Given the description of an element on the screen output the (x, y) to click on. 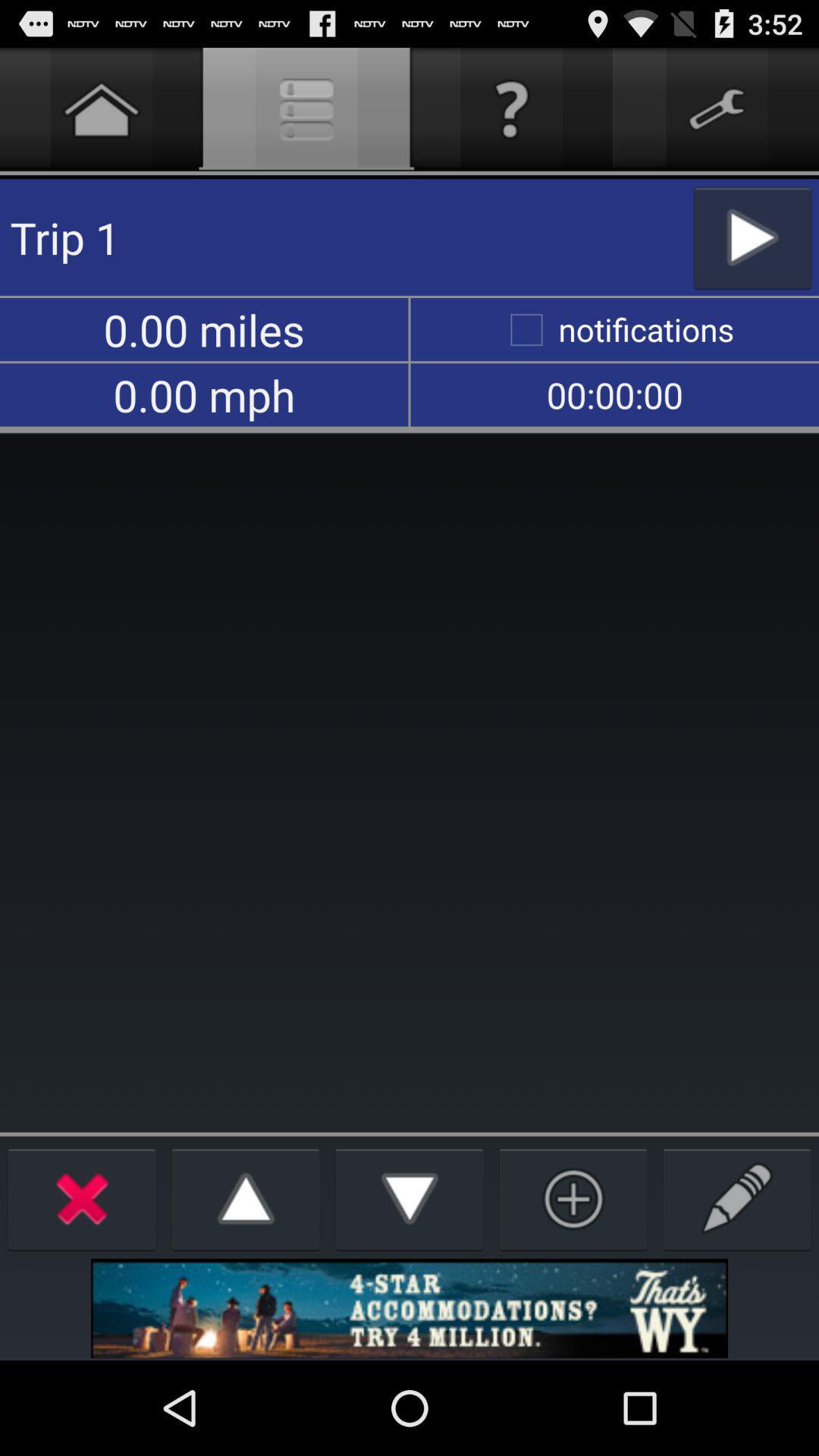
add new trip (573, 1198)
